Given the description of an element on the screen output the (x, y) to click on. 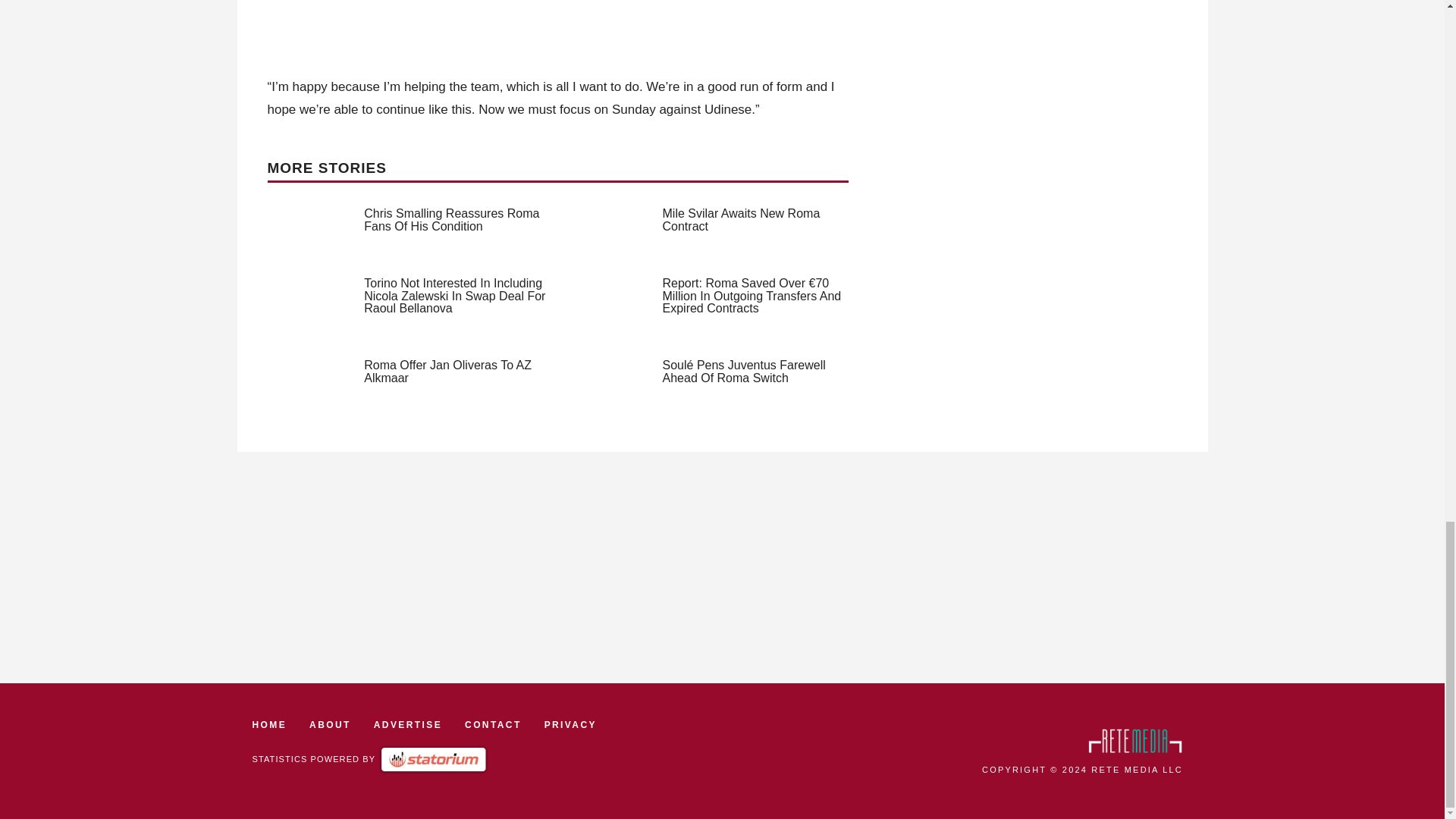
Roma Offer Jan Oliveras To AZ Alkmaar (447, 371)
CONTACT (492, 725)
ABOUT (329, 725)
ADVERTISE (408, 725)
HOME (268, 725)
Chris Smalling Reassures Roma Fans Of His Condition (451, 219)
PRIVACY (570, 725)
Mile Svilar Awaits New Roma Contract (741, 219)
